Given the description of an element on the screen output the (x, y) to click on. 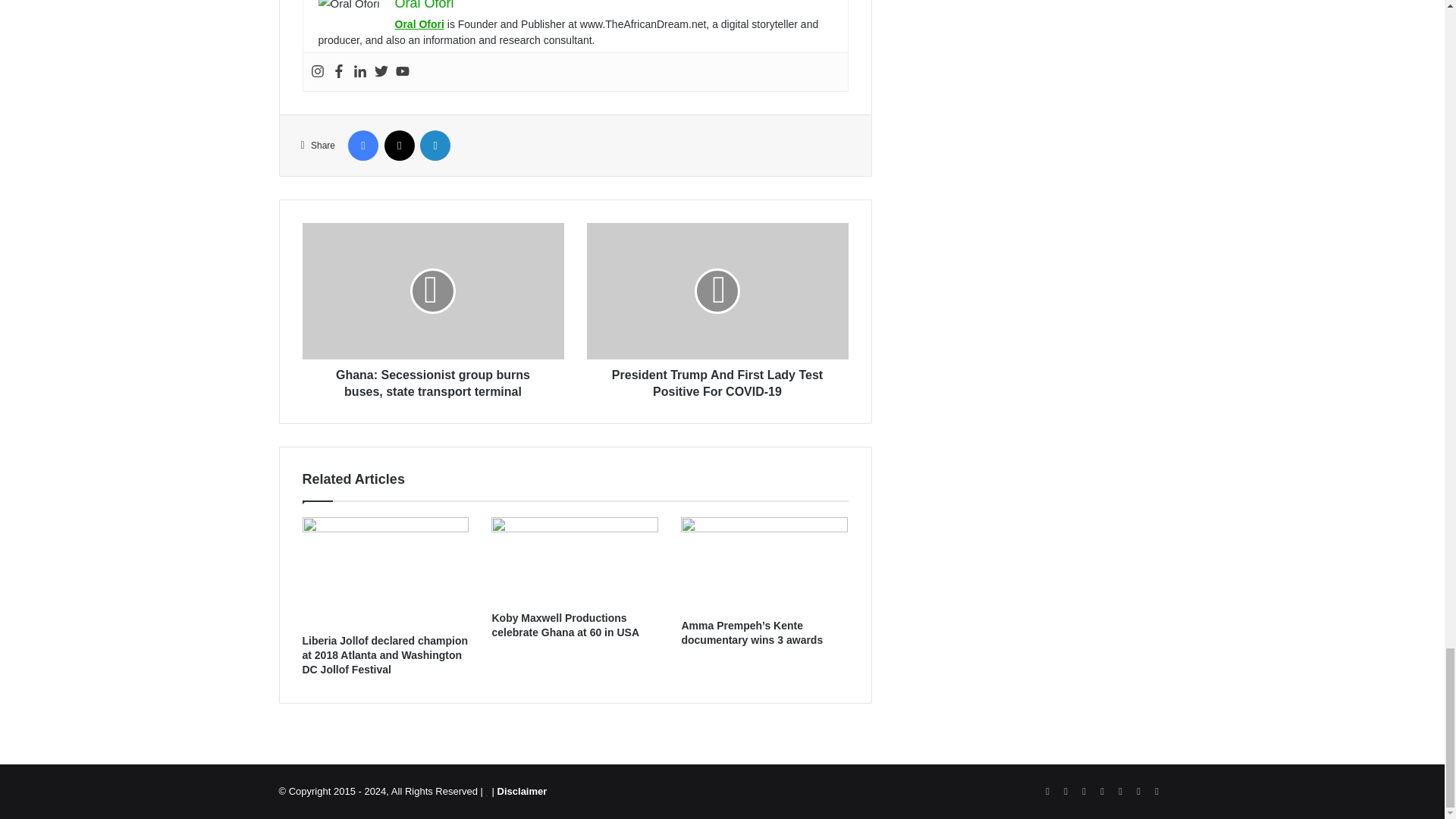
Instagram (317, 71)
Linkedin (359, 71)
Twitter (381, 71)
Facebook (338, 71)
Youtube (402, 71)
